Given the description of an element on the screen output the (x, y) to click on. 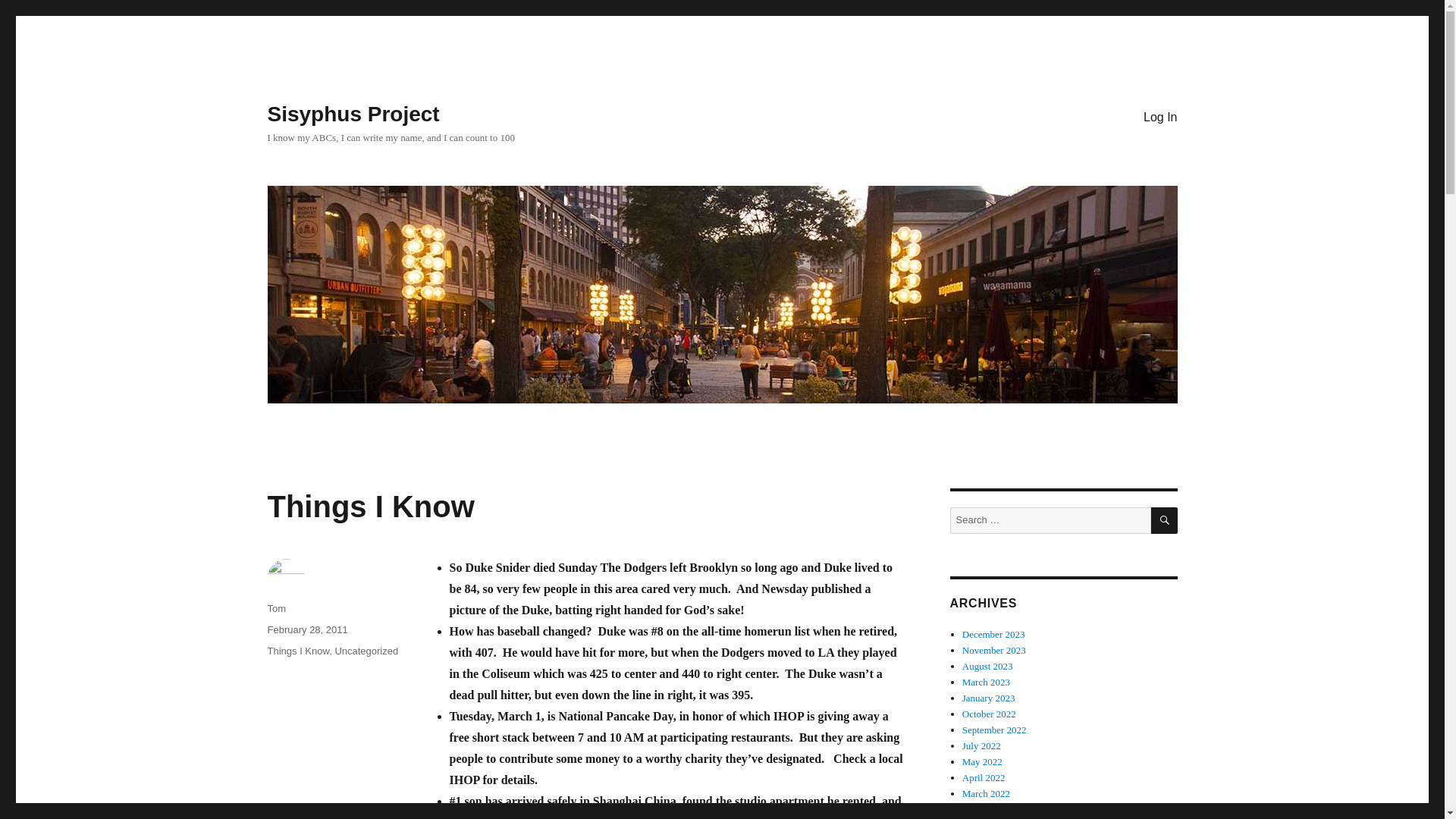
Tom (275, 608)
August 2023 (987, 665)
March 2023 (986, 681)
March 2022 (986, 793)
January 2023 (988, 697)
July 2022 (981, 745)
September 2022 (994, 729)
SEARCH (1164, 519)
Log In (1160, 116)
October 2022 (989, 713)
